Given the description of an element on the screen output the (x, y) to click on. 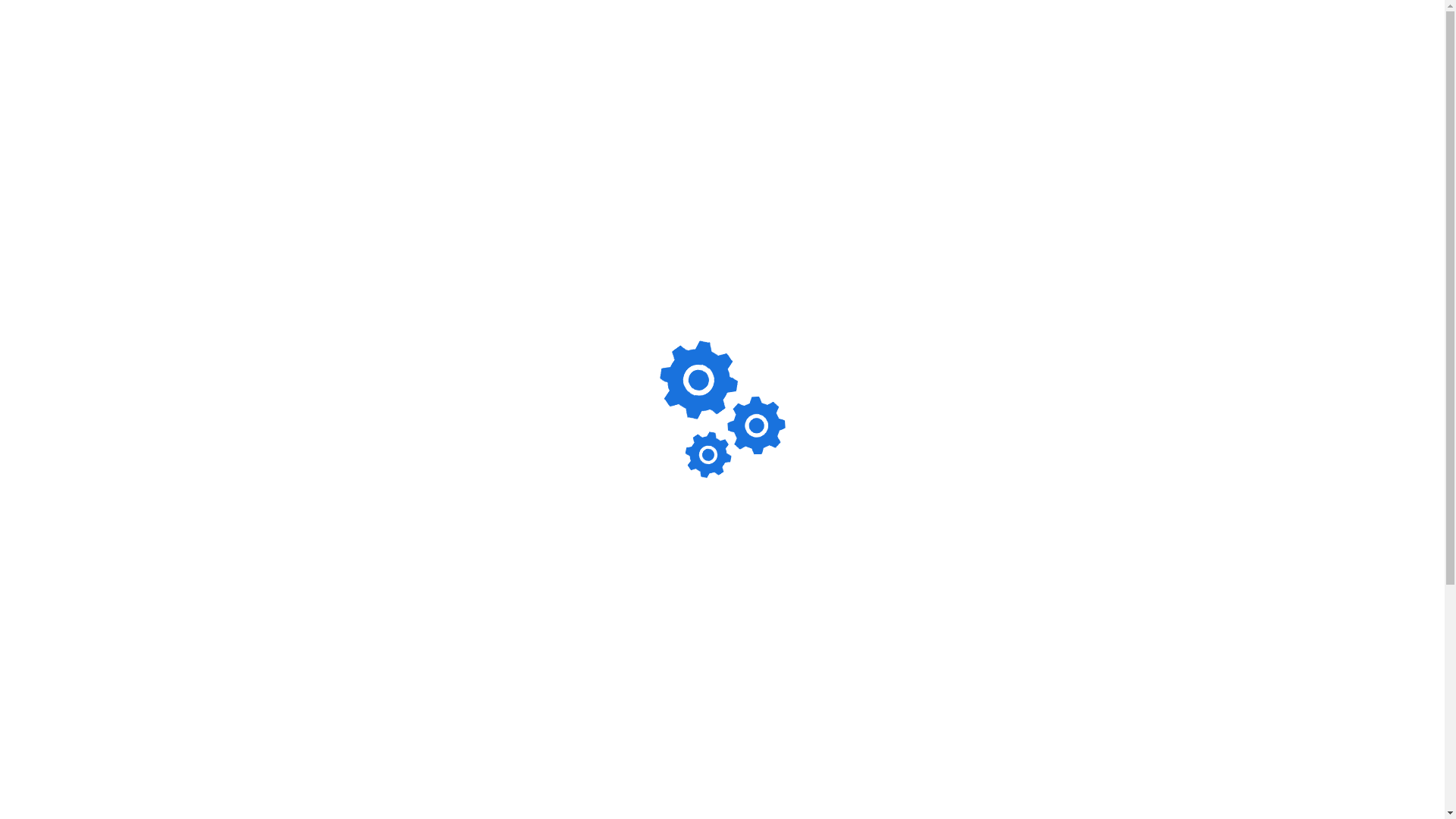
NOUS JOINDRE Element type: text (1174, 37)
accueil Element type: text (796, 708)
EN Element type: text (1267, 37)
contactez-nous Element type: text (920, 731)
ACCUEIL Element type: text (685, 37)
